Given the description of an element on the screen output the (x, y) to click on. 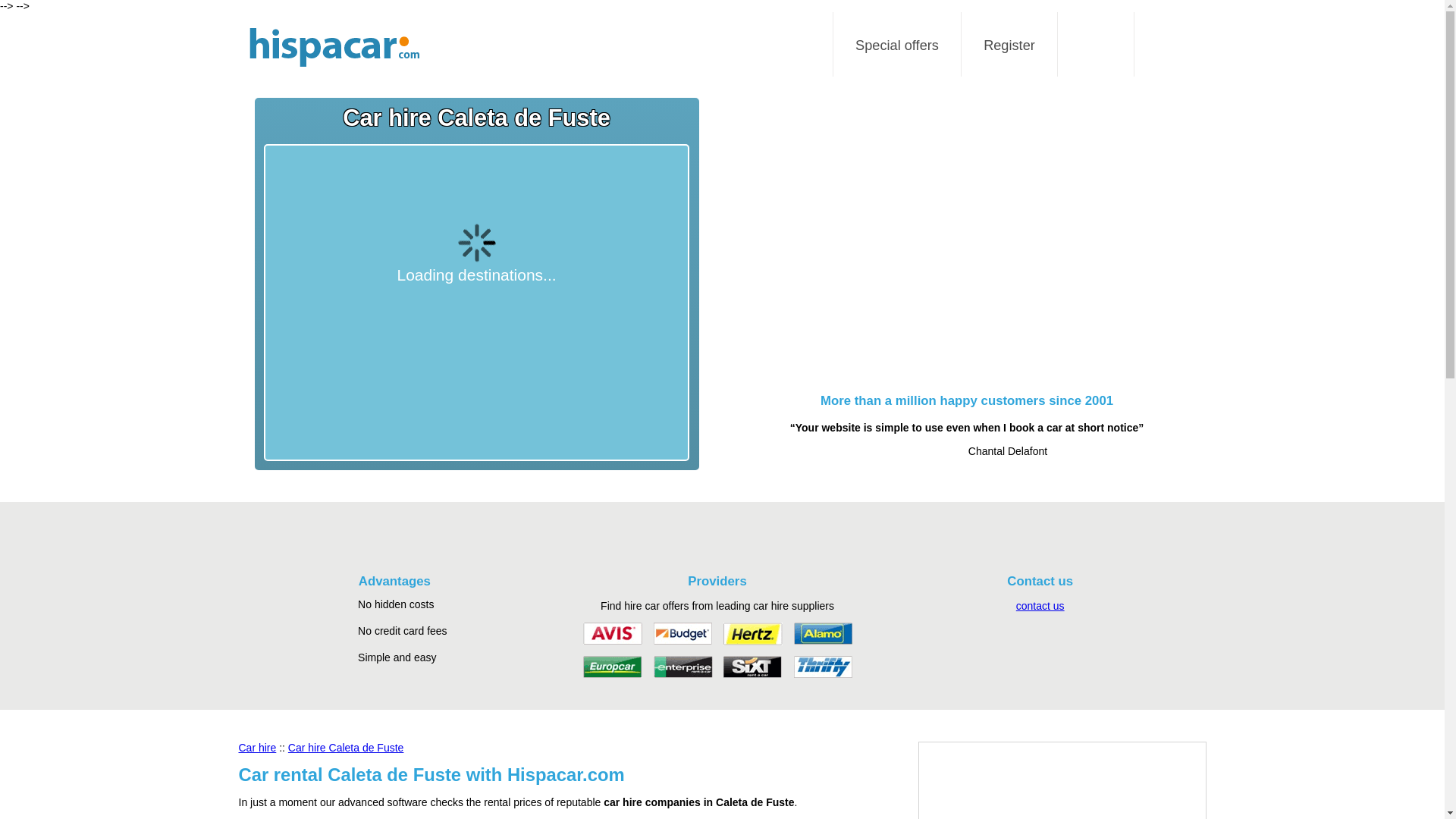
Register (1009, 45)
Car hire (257, 747)
contact us (1040, 605)
Car hire Caleta de Fuste (346, 747)
Special offers (897, 45)
